Given the description of an element on the screen output the (x, y) to click on. 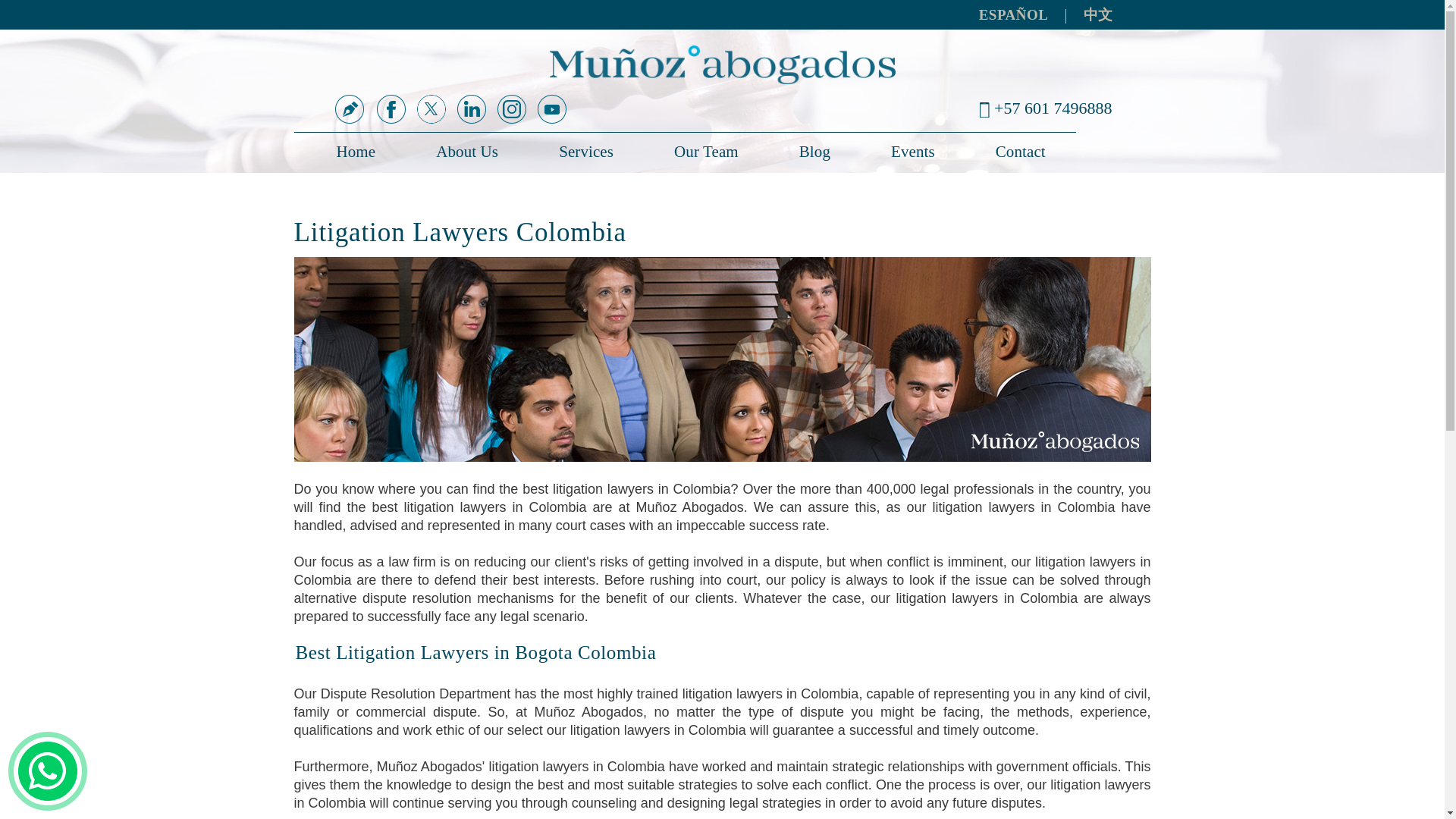
About Us (467, 151)
Our Team (705, 151)
Blog (814, 151)
Home (350, 151)
Law Firm Colombia (350, 151)
Law Firm Colombia (721, 64)
Contact (1020, 151)
Events (912, 151)
About Us (467, 151)
Blog (814, 151)
Services (585, 151)
Services (585, 151)
Our Team (705, 151)
